Given the description of an element on the screen output the (x, y) to click on. 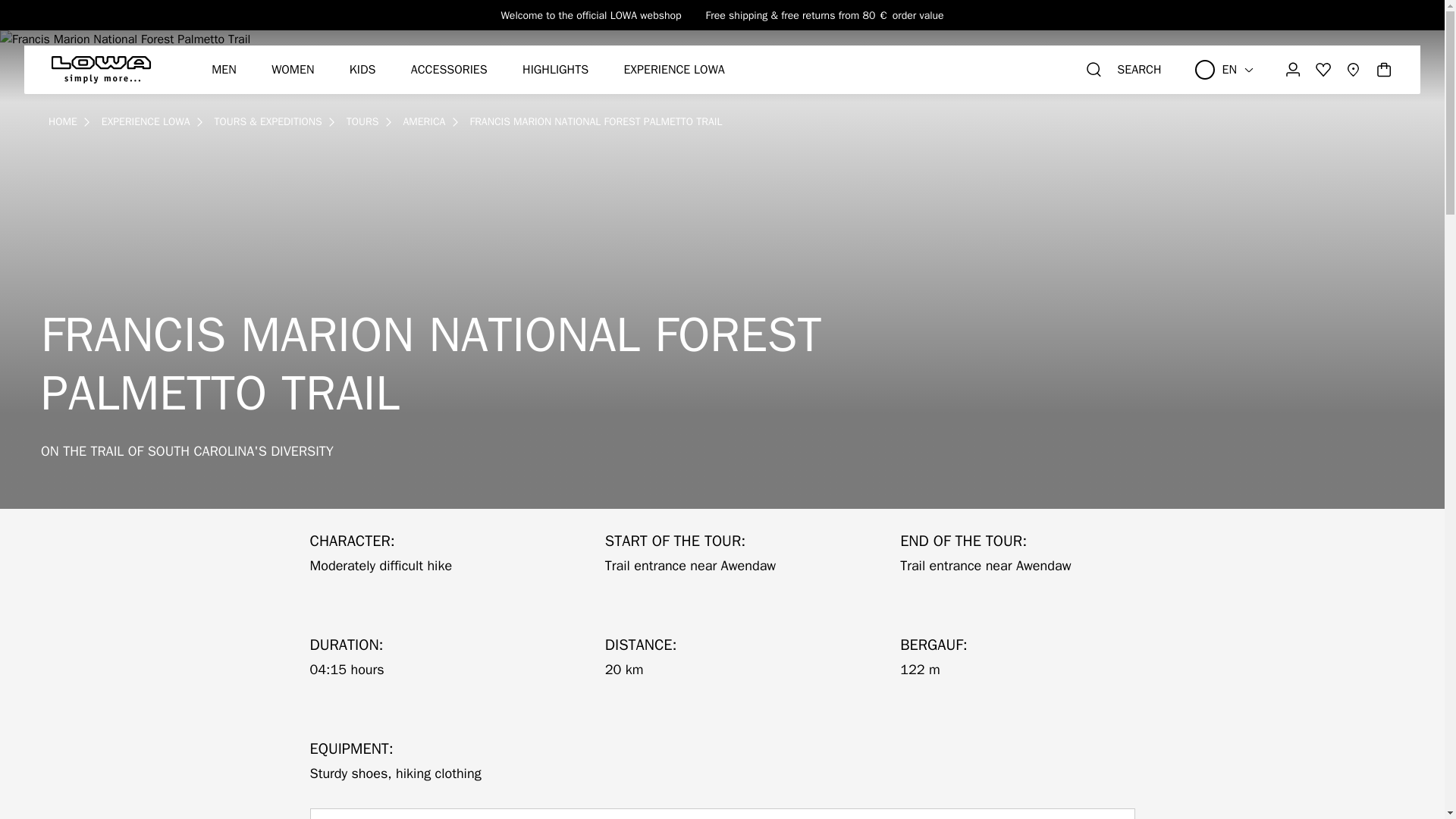
Go to Home Page (62, 121)
KIDS (362, 69)
ACCESSORIES (449, 69)
WOMEN (293, 69)
MEN (223, 69)
